Given the description of an element on the screen output the (x, y) to click on. 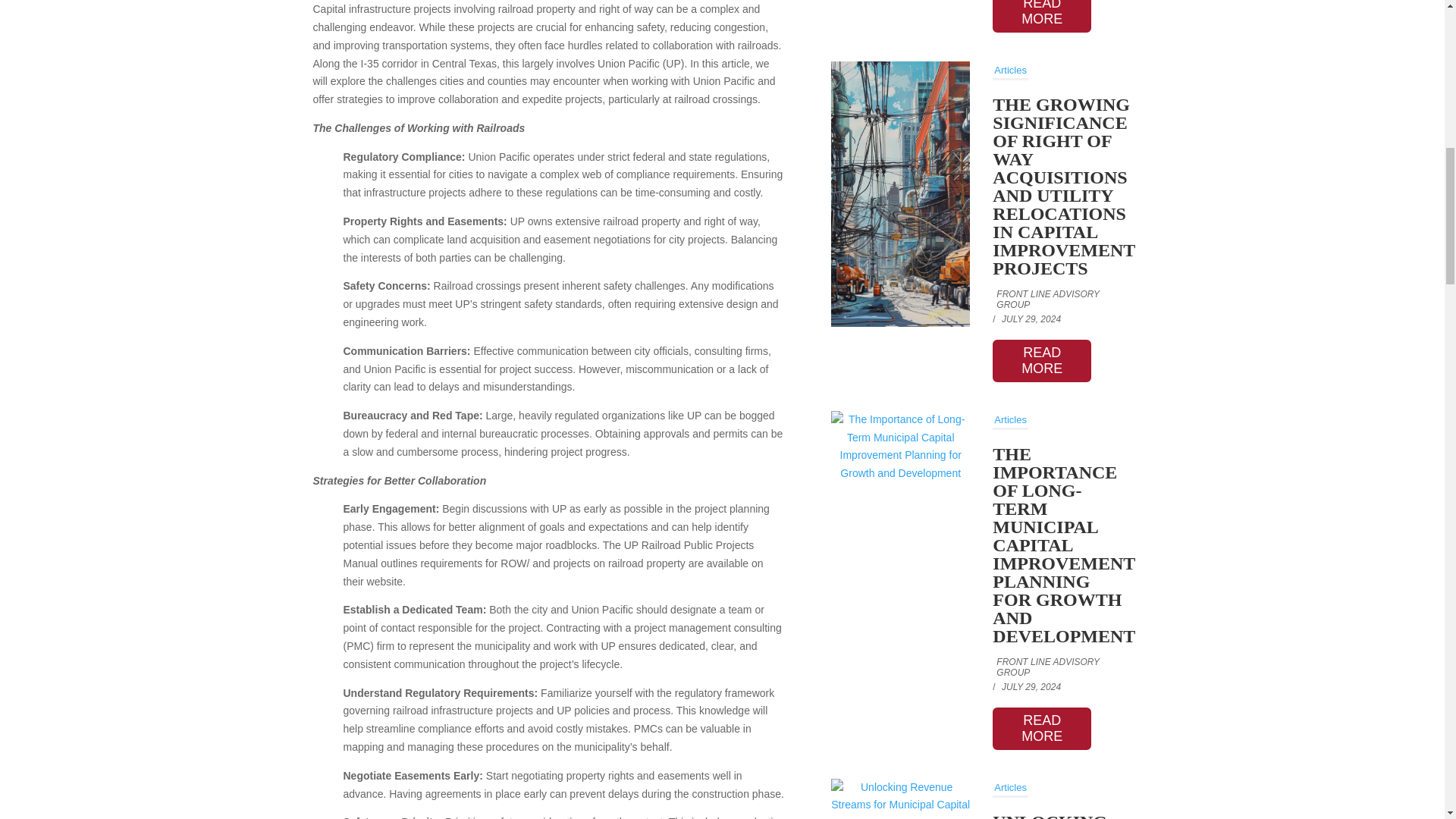
READ MORE (1041, 360)
Articles (1009, 71)
READ MORE (1041, 16)
